Given the description of an element on the screen output the (x, y) to click on. 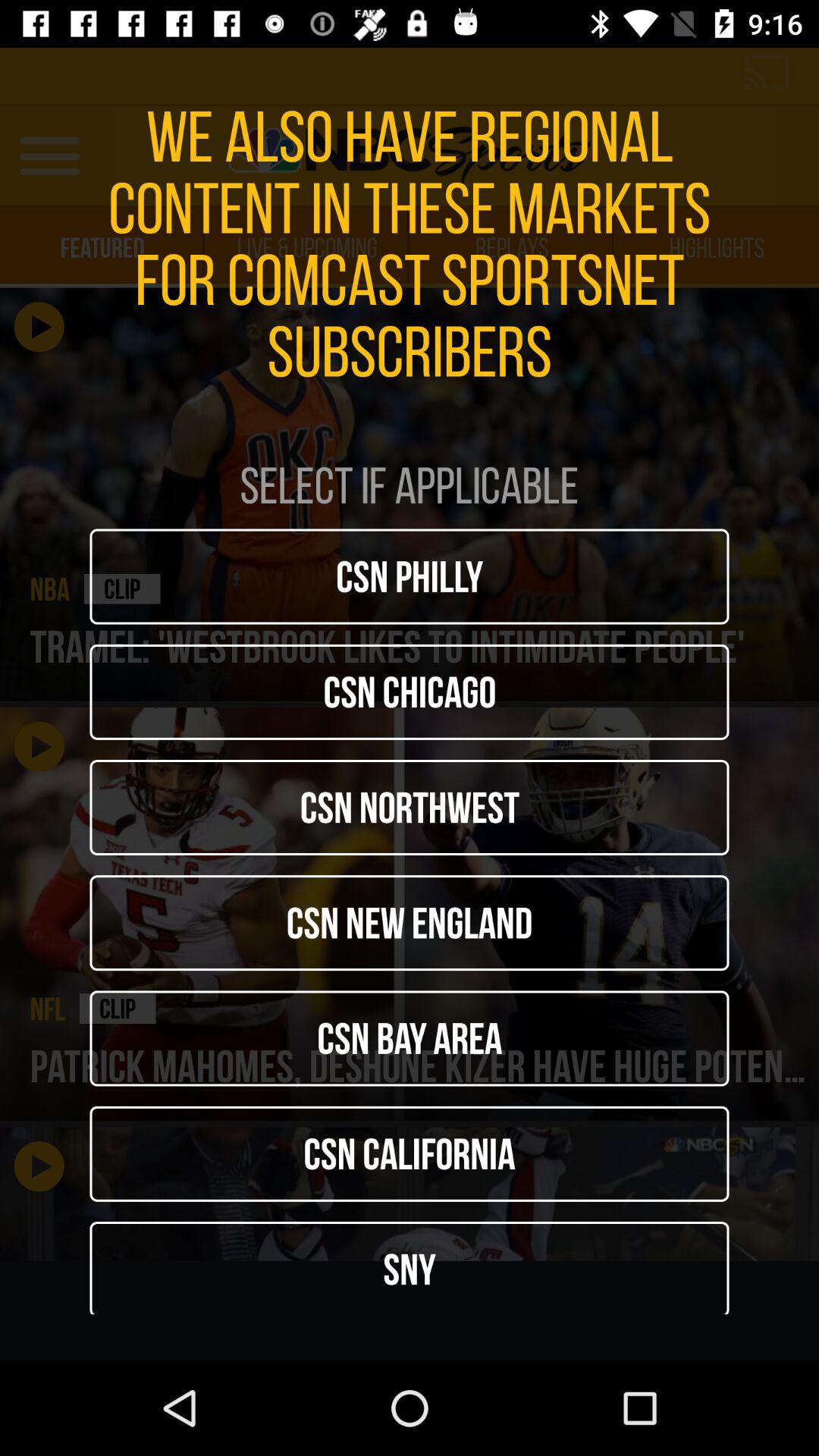
select sny icon (409, 1267)
